Given the description of an element on the screen output the (x, y) to click on. 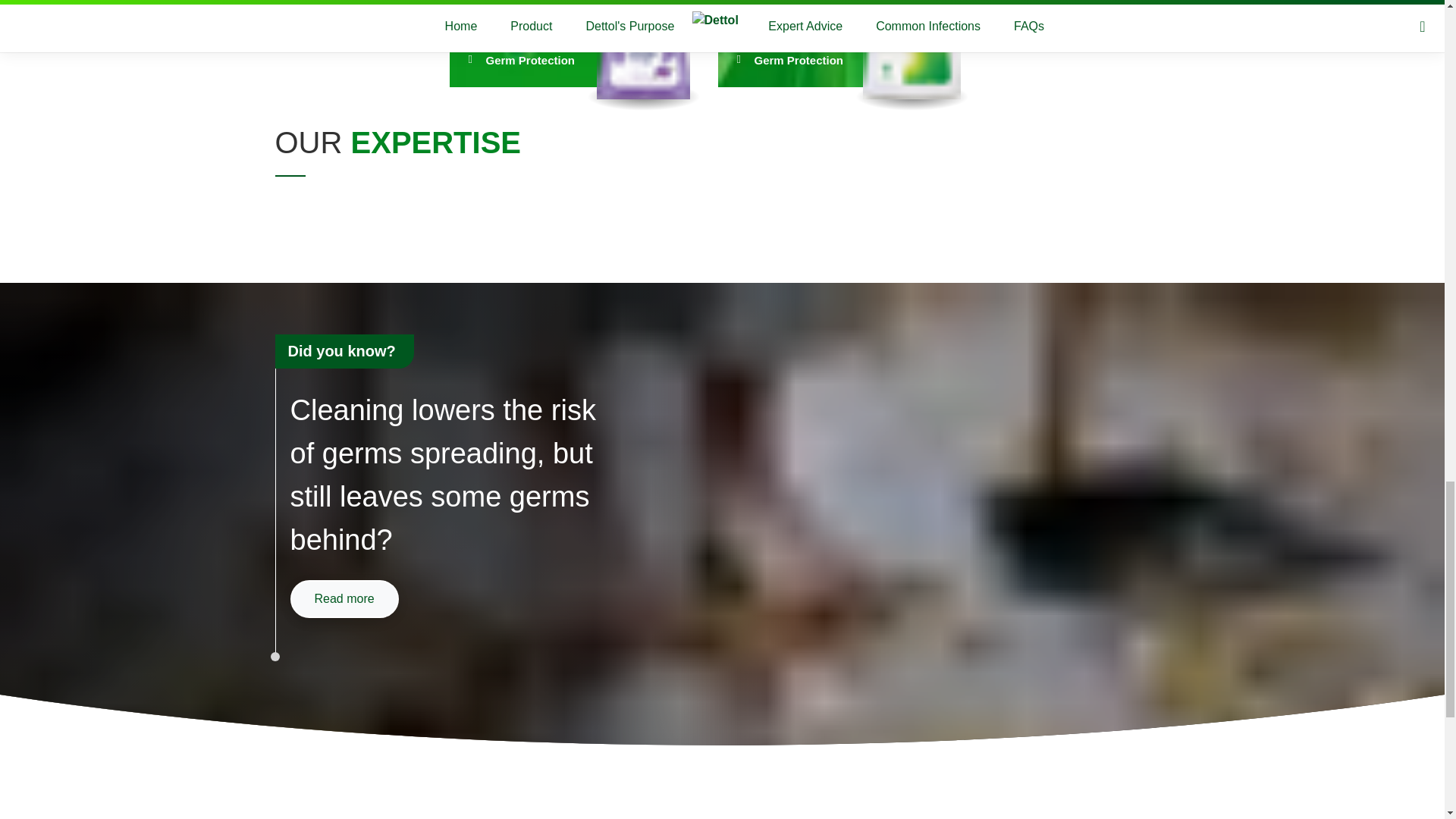
Read more (343, 598)
